Given the description of an element on the screen output the (x, y) to click on. 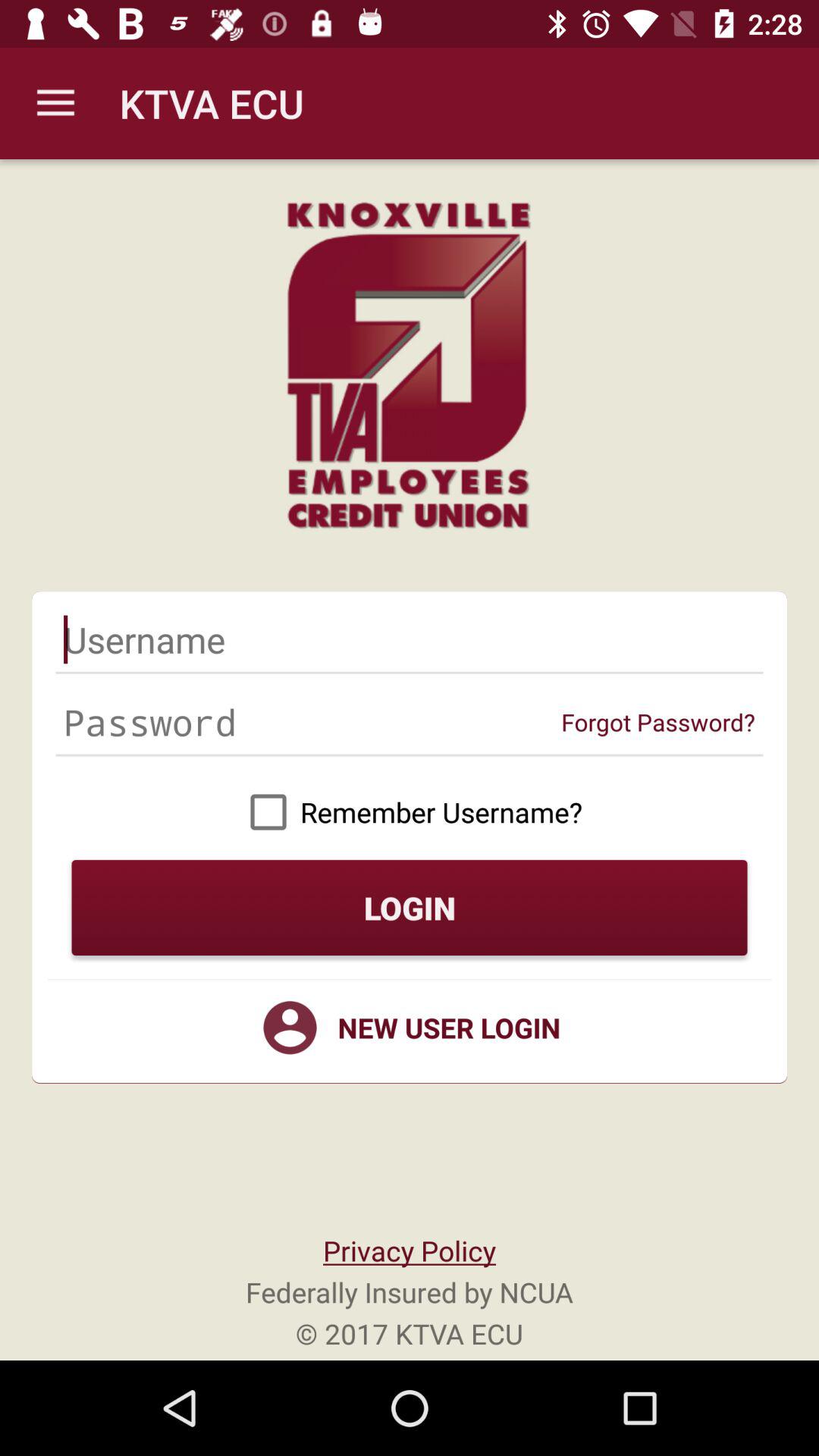
tap the icon to the left of ktva ecu item (55, 103)
